Given the description of an element on the screen output the (x, y) to click on. 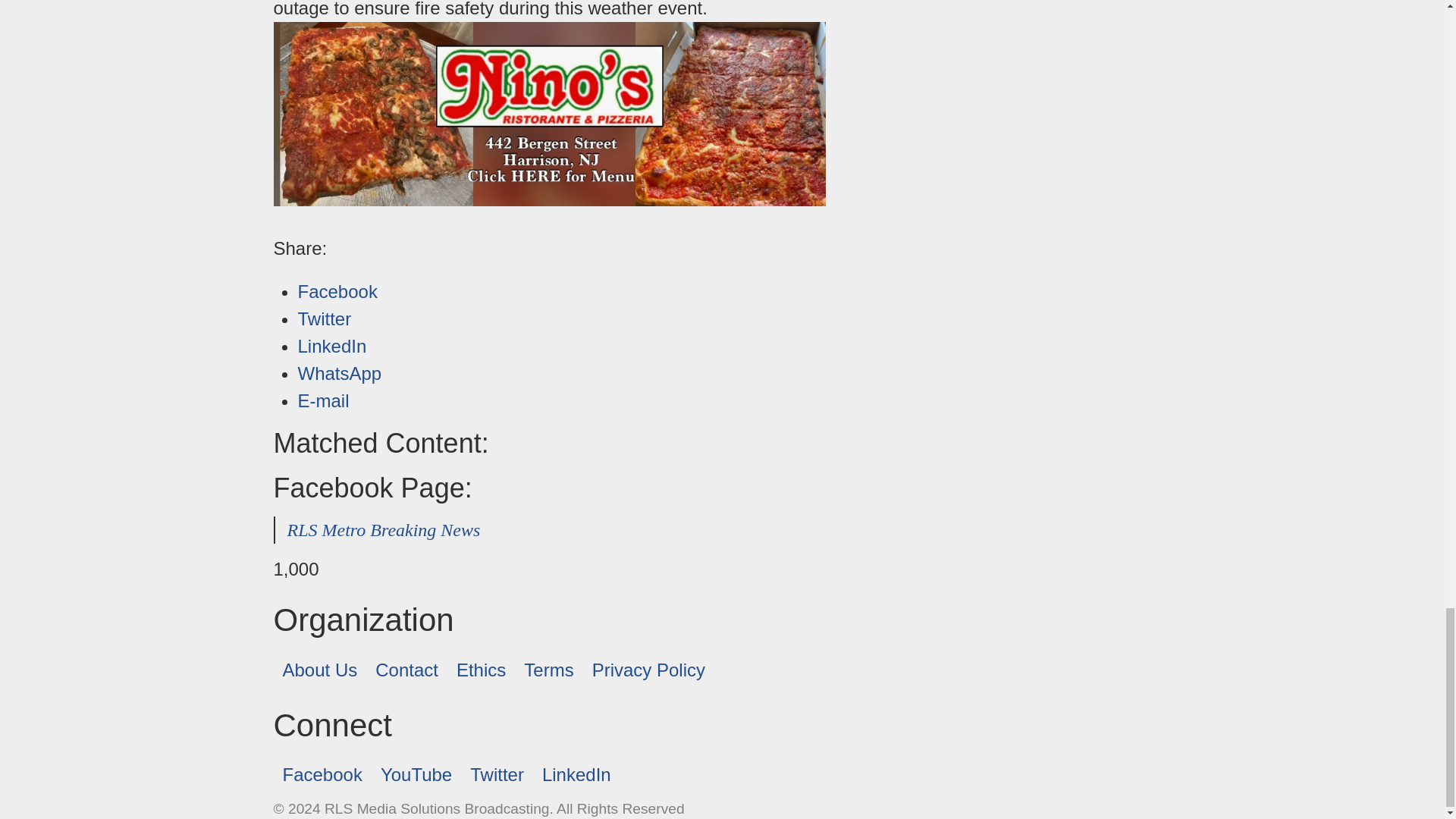
Contact (406, 669)
YouTube (416, 774)
RLS Metro Breaking News (383, 529)
WhatsApp (339, 373)
Facebook (322, 774)
Ethics Code (480, 669)
LinkedIn (331, 345)
View our latest videos (416, 774)
Privacy Policy (648, 669)
E-mail (323, 400)
